Given the description of an element on the screen output the (x, y) to click on. 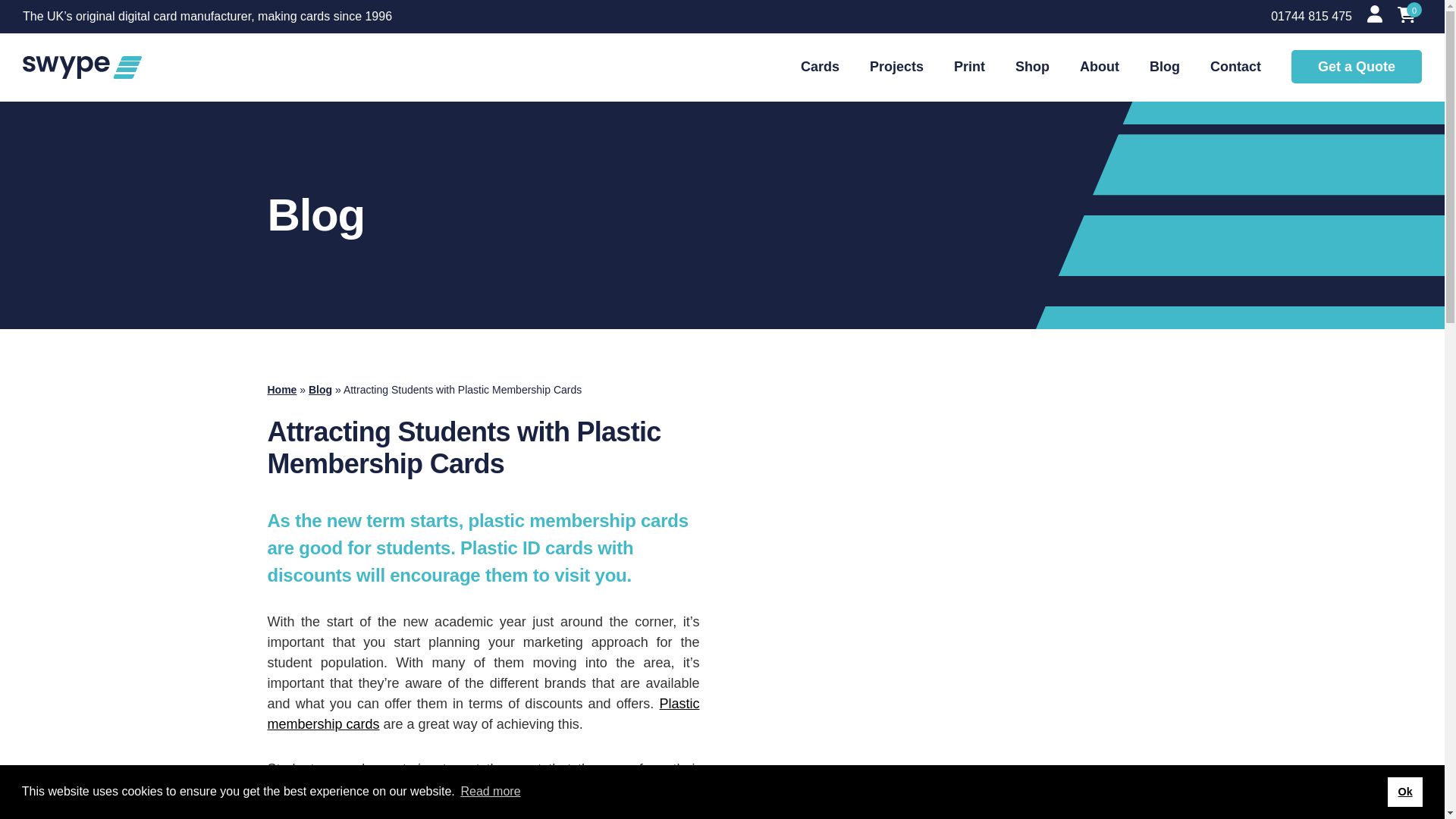
Projects (896, 66)
Ok (1404, 791)
01744 815 475 (1311, 16)
Plastic membership cards (482, 714)
Get a Quote (1356, 66)
Read more (490, 791)
Print (969, 66)
Blog (1164, 66)
Swype (82, 67)
Swype (82, 67)
Shop (1031, 66)
About (1099, 66)
Blog (319, 389)
Cards (820, 66)
Home (281, 389)
